Given the description of an element on the screen output the (x, y) to click on. 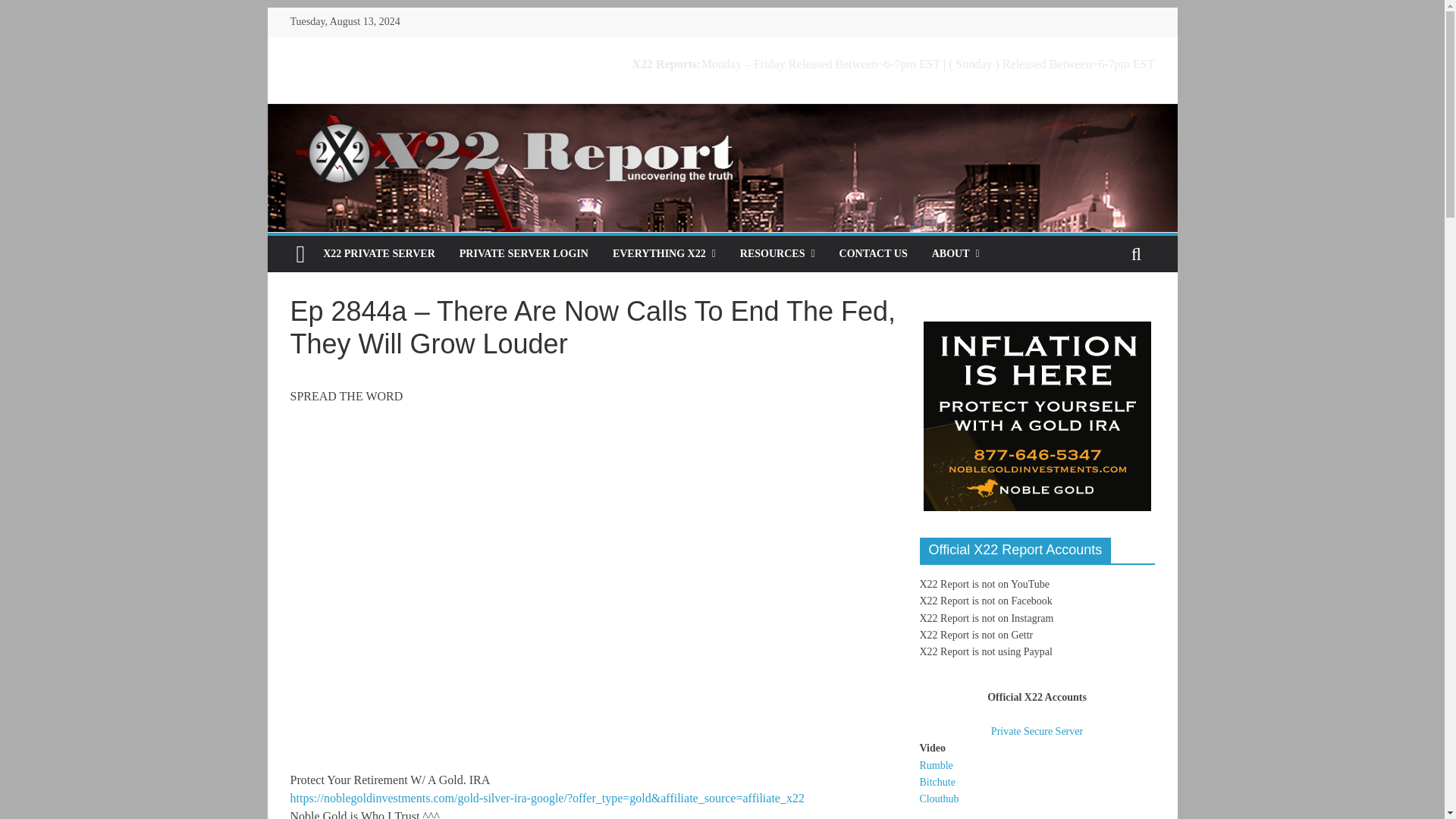
PRIVATE SERVER LOGIN (522, 253)
RESOURCES (777, 253)
ABOUT (955, 253)
CONTACT US (873, 253)
EVERYTHING X22 (663, 253)
X22 PRIVATE SERVER (378, 253)
